Given the description of an element on the screen output the (x, y) to click on. 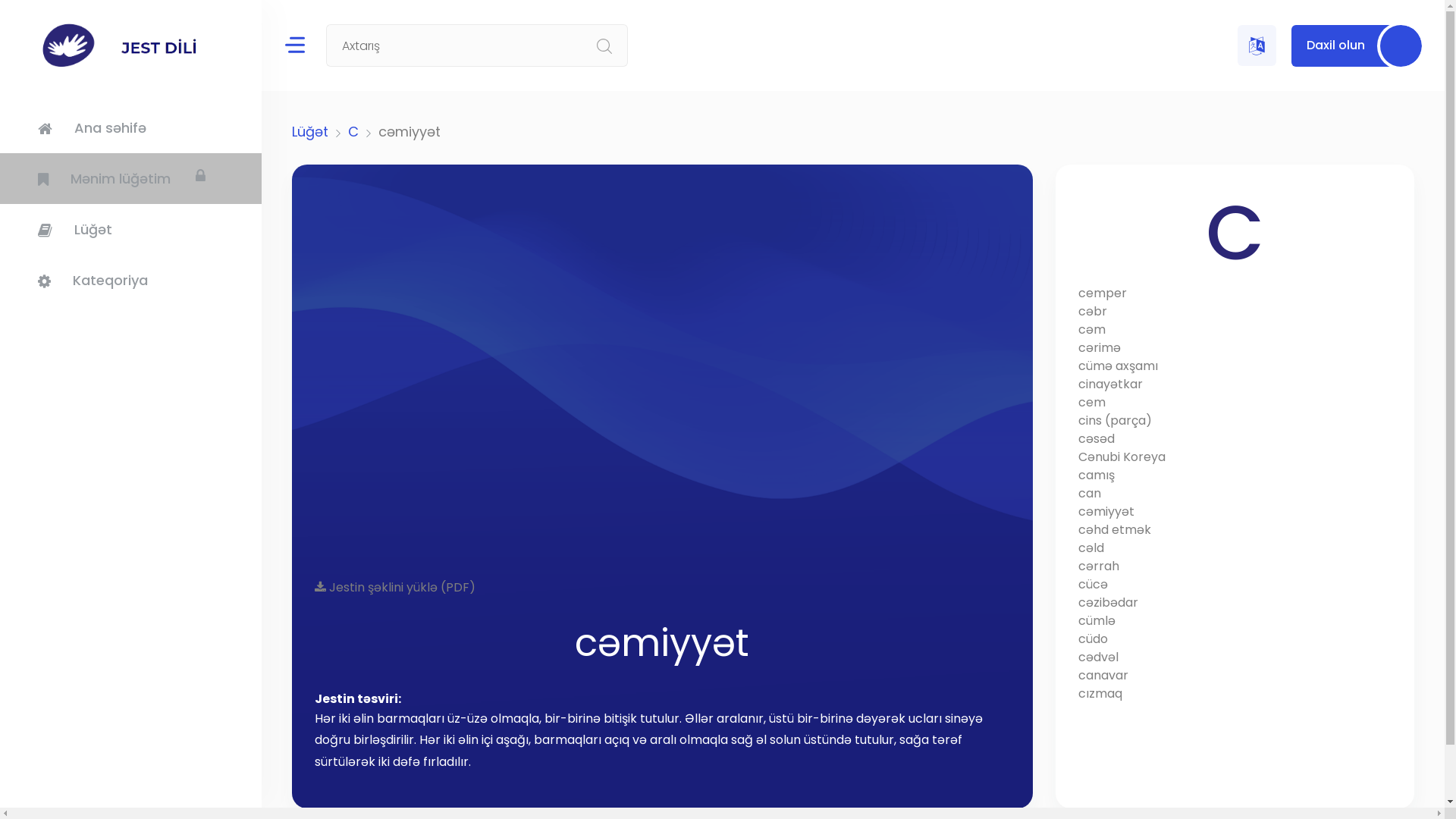
Daxil olun Element type: text (1356, 44)
cemper Element type: text (1234, 293)
cem Element type: text (1234, 402)
can Element type: text (1234, 493)
Kateqoriya Element type: text (130, 279)
C Element type: text (353, 131)
canavar Element type: text (1234, 675)
